Given the description of an element on the screen output the (x, y) to click on. 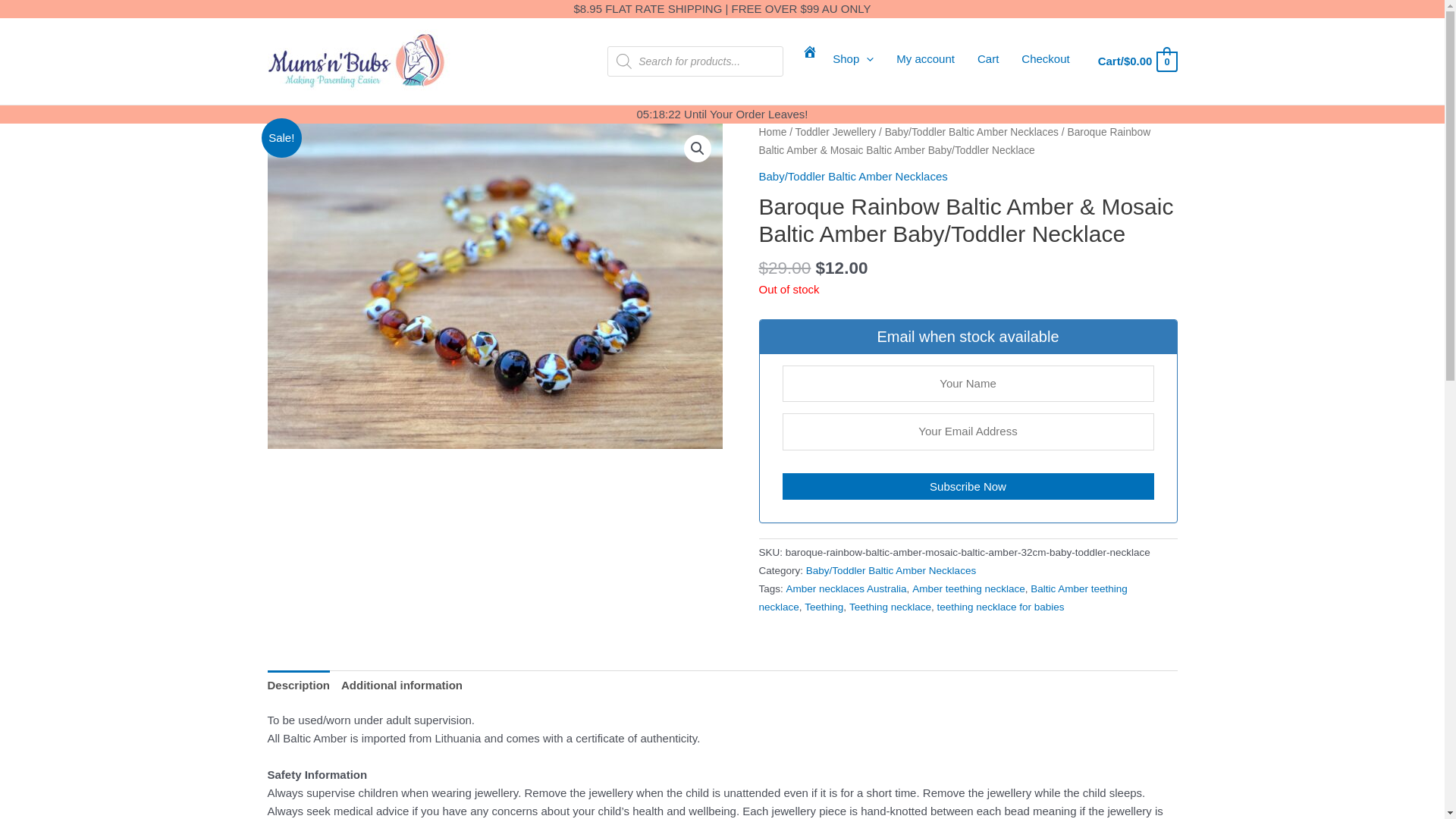
Baby/Toddler Baltic Amber Necklaces Element type: text (971, 132)
Toddler Jewellery Element type: text (835, 132)
Cart Element type: text (988, 57)
Checkout Element type: text (1045, 57)
Subscribe Now Element type: text (968, 486)
20210115_142741 Element type: hover (493, 285)
Additional information Element type: text (401, 684)
Baltic Amber teething necklace Element type: text (942, 597)
Description Element type: text (297, 684)
Teething Element type: text (823, 606)
teething necklace for babies Element type: text (999, 606)
Cart/$0.00
0 Element type: text (1136, 61)
Shop Element type: text (852, 57)
Home Element type: text (772, 132)
Baby/Toddler Baltic Amber Necklaces Element type: text (852, 175)
Teething necklace Element type: text (890, 606)
Amber necklaces Australia Element type: text (846, 588)
My account Element type: text (925, 57)
Baby/Toddler Baltic Amber Necklaces Element type: text (890, 570)
Amber teething necklace Element type: text (968, 588)
